Given the description of an element on the screen output the (x, y) to click on. 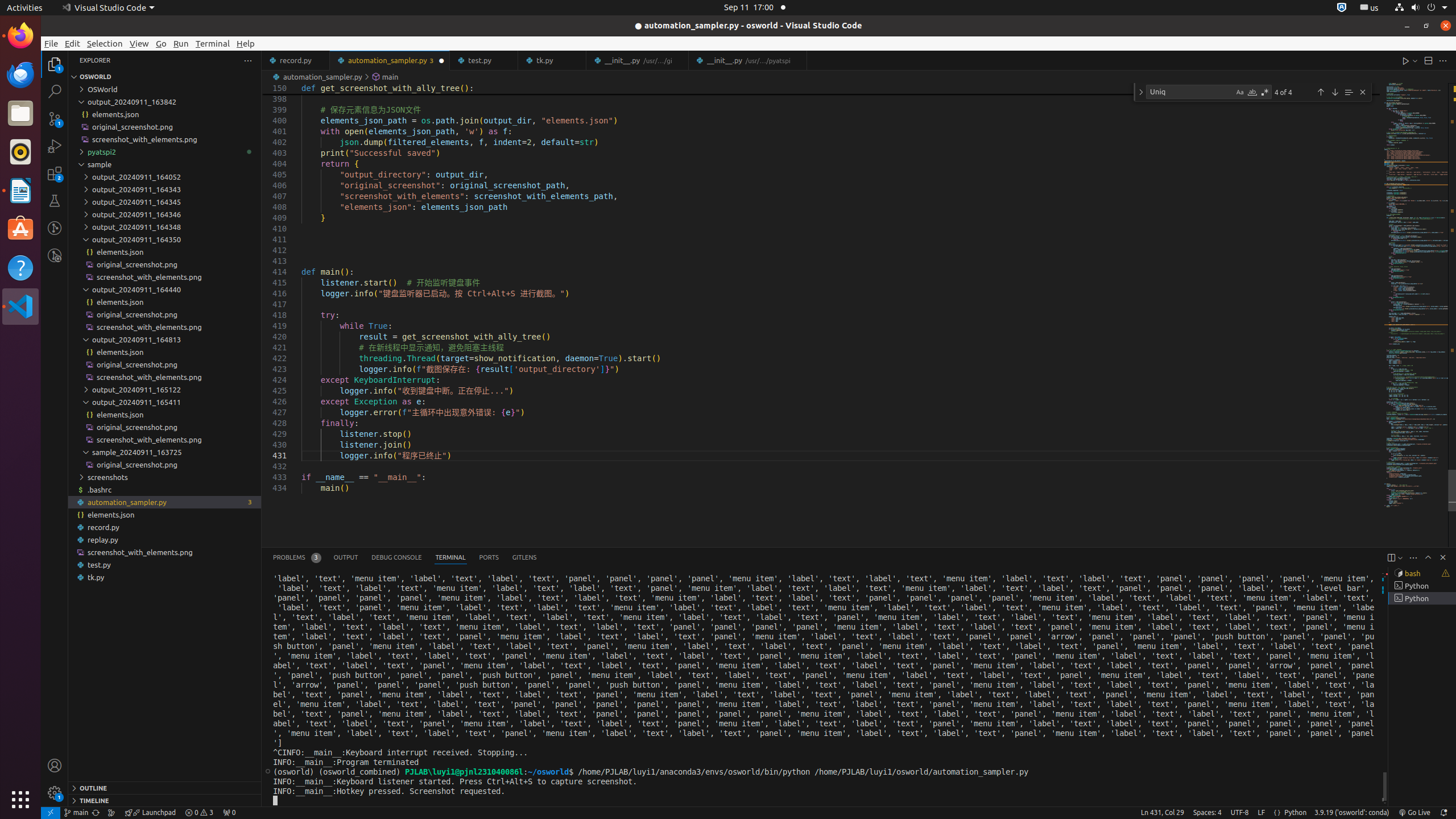
OSWorld (Git) - Synchronize Changes Element type: push-button (95, 812)
output_20240911_163842 Element type: tree-item (164, 101)
OSWorld (Git) - main, Checkout Branch/Tag... Element type: push-button (75, 812)
automation_sampler.py Element type: page-tab (389, 60)
Launch Profile... Element type: push-button (1399, 557)
